Given the description of an element on the screen output the (x, y) to click on. 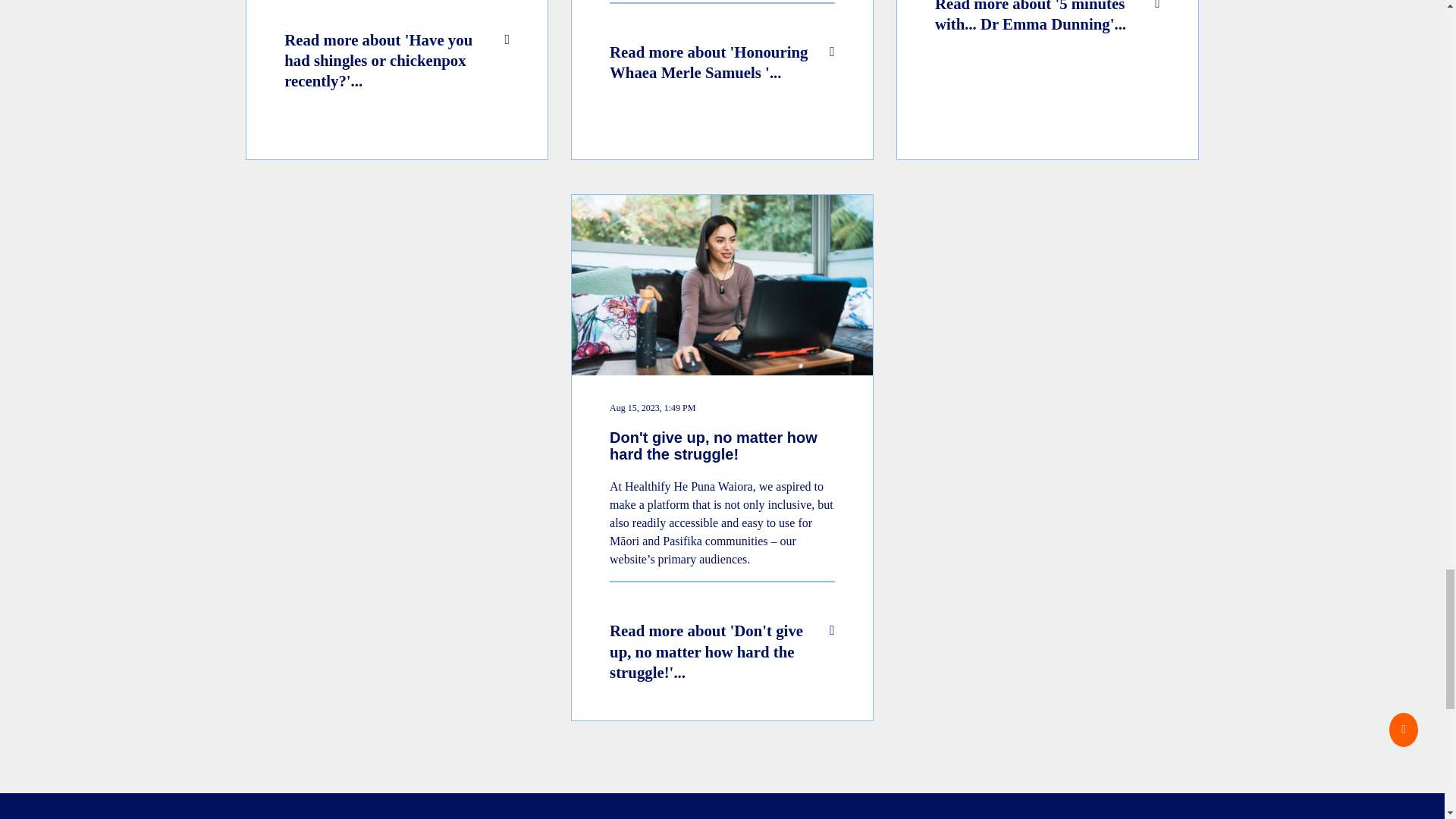
Read more about '5 minutes with... Dr Emma Dunning'... (1047, 79)
Read more about 'Honouring Whaea Merle Samuels '... (721, 79)
